Given the description of an element on the screen output the (x, y) to click on. 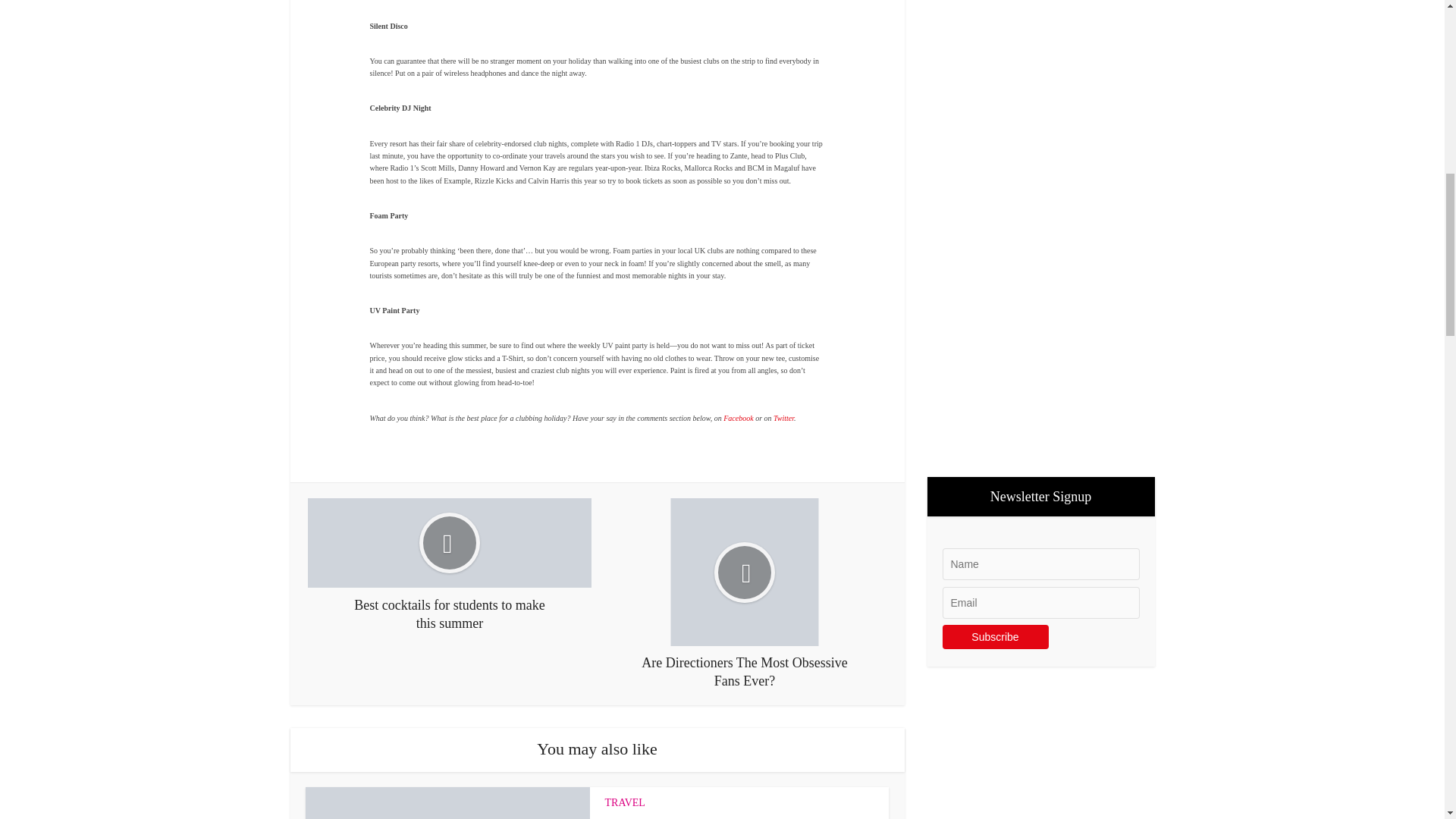
Twitter (783, 418)
TRAVEL (625, 802)
Best cocktails for students to make this summer (449, 564)
Subscribe (995, 636)
Are Directioners The Most Obsessive Fans Ever? (744, 593)
Facebook (737, 418)
